Given the description of an element on the screen output the (x, y) to click on. 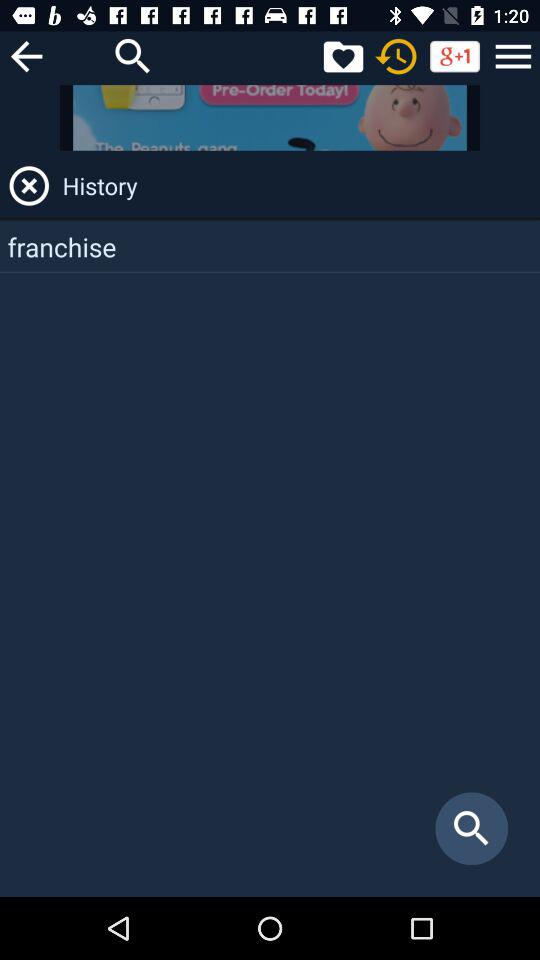
open favorites (343, 56)
